Given the description of an element on the screen output the (x, y) to click on. 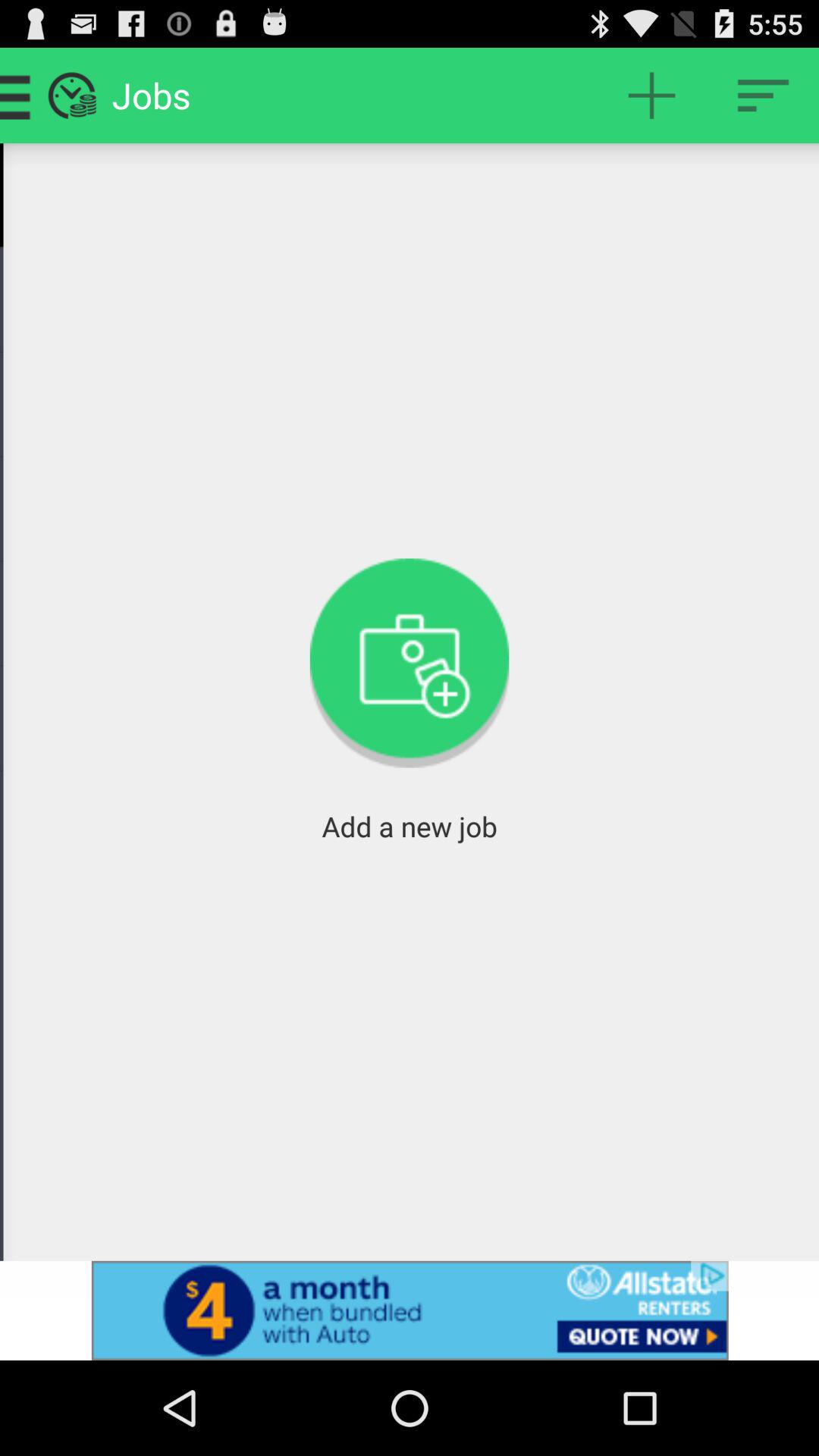
option (763, 95)
